Given the description of an element on the screen output the (x, y) to click on. 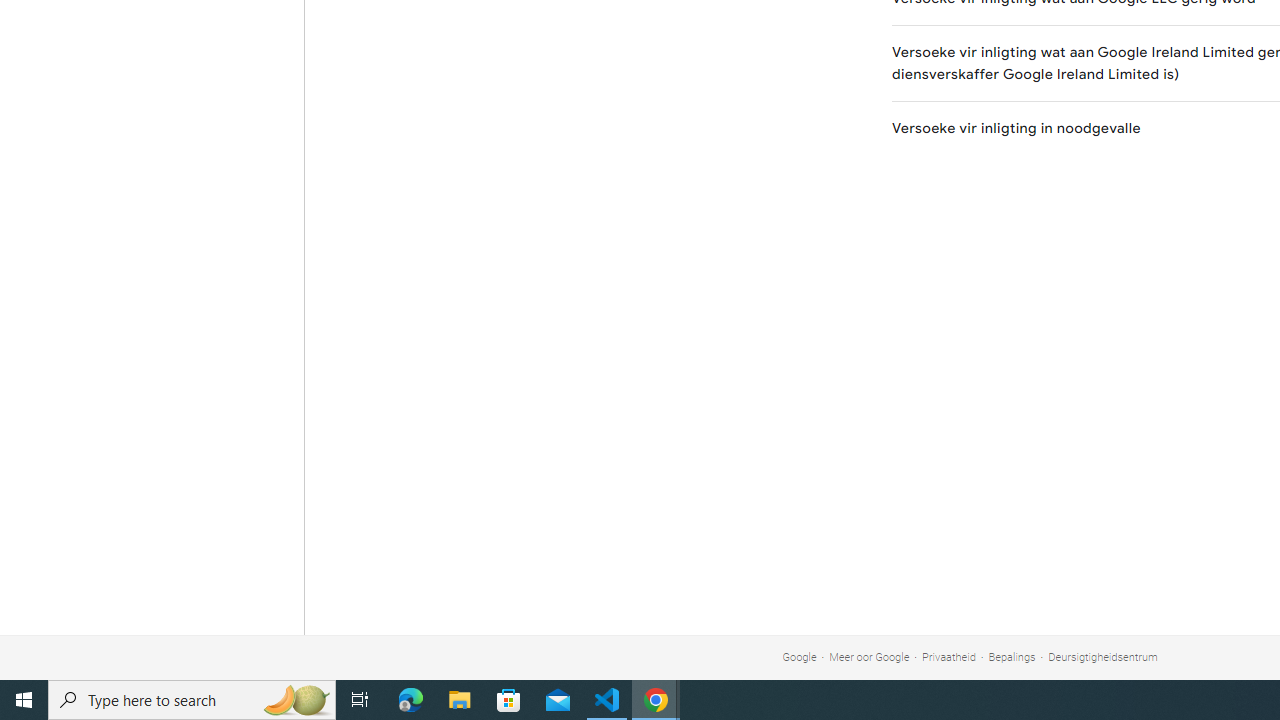
Google (799, 656)
Privaatheid (948, 656)
Bepalings (1011, 656)
Deursigtigheidsentrum (1103, 656)
Meer oor Google (869, 656)
